Given the description of an element on the screen output the (x, y) to click on. 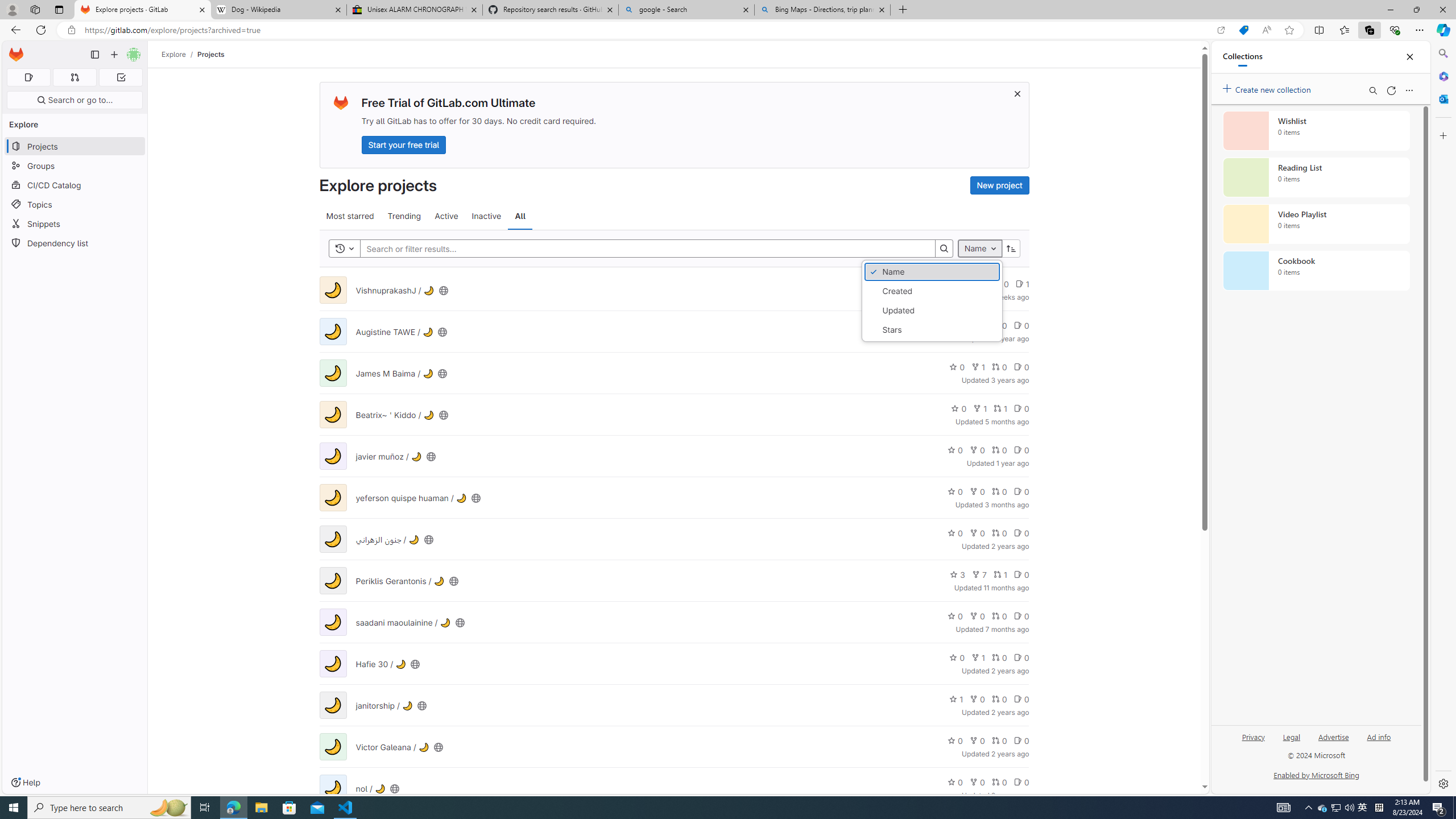
Projects (211, 53)
Wishlist collection, 0 items (1316, 130)
Dependency list (74, 242)
Trending (404, 216)
